Given the description of an element on the screen output the (x, y) to click on. 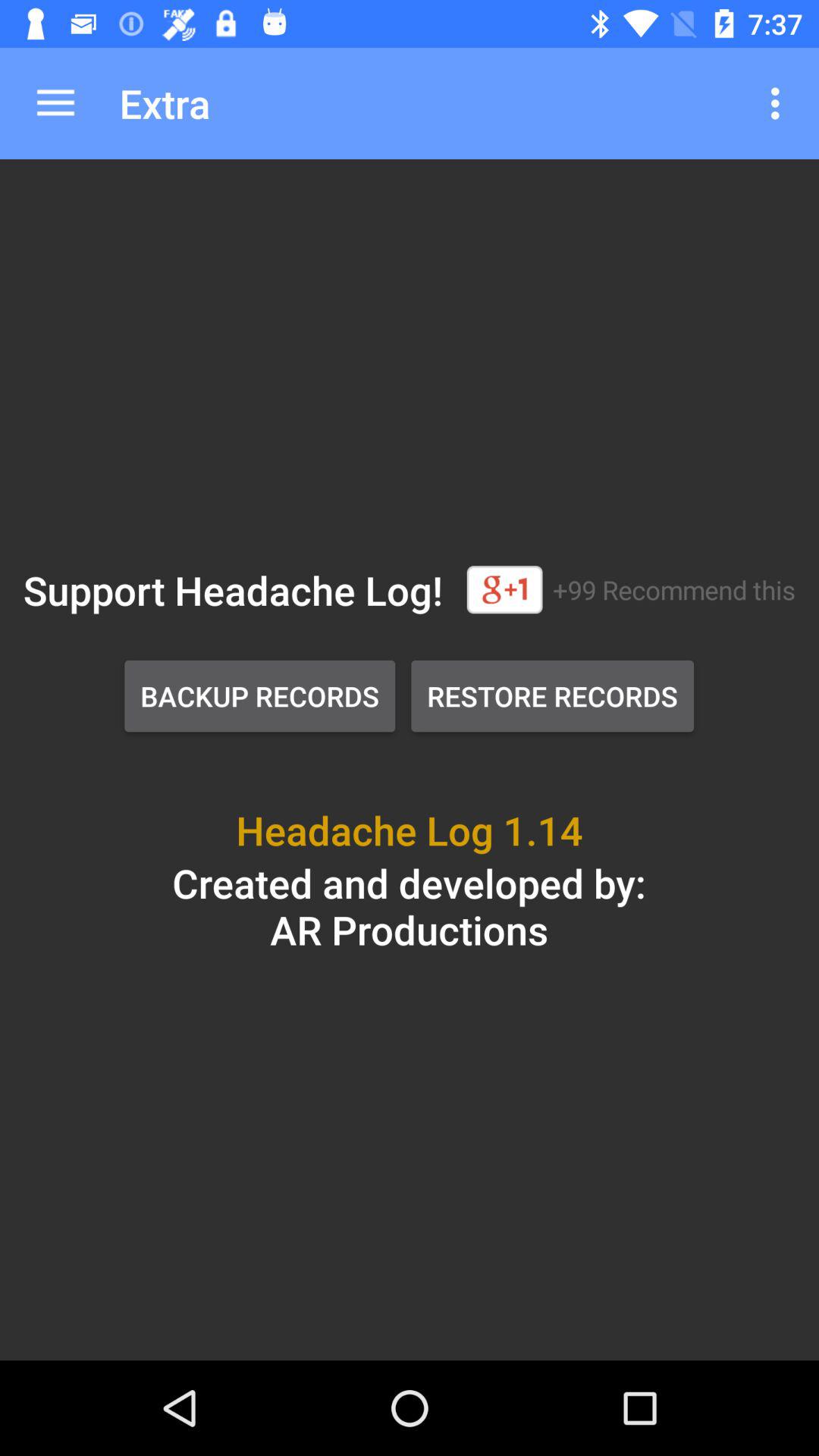
select icon at the top right corner (779, 103)
